Given the description of an element on the screen output the (x, y) to click on. 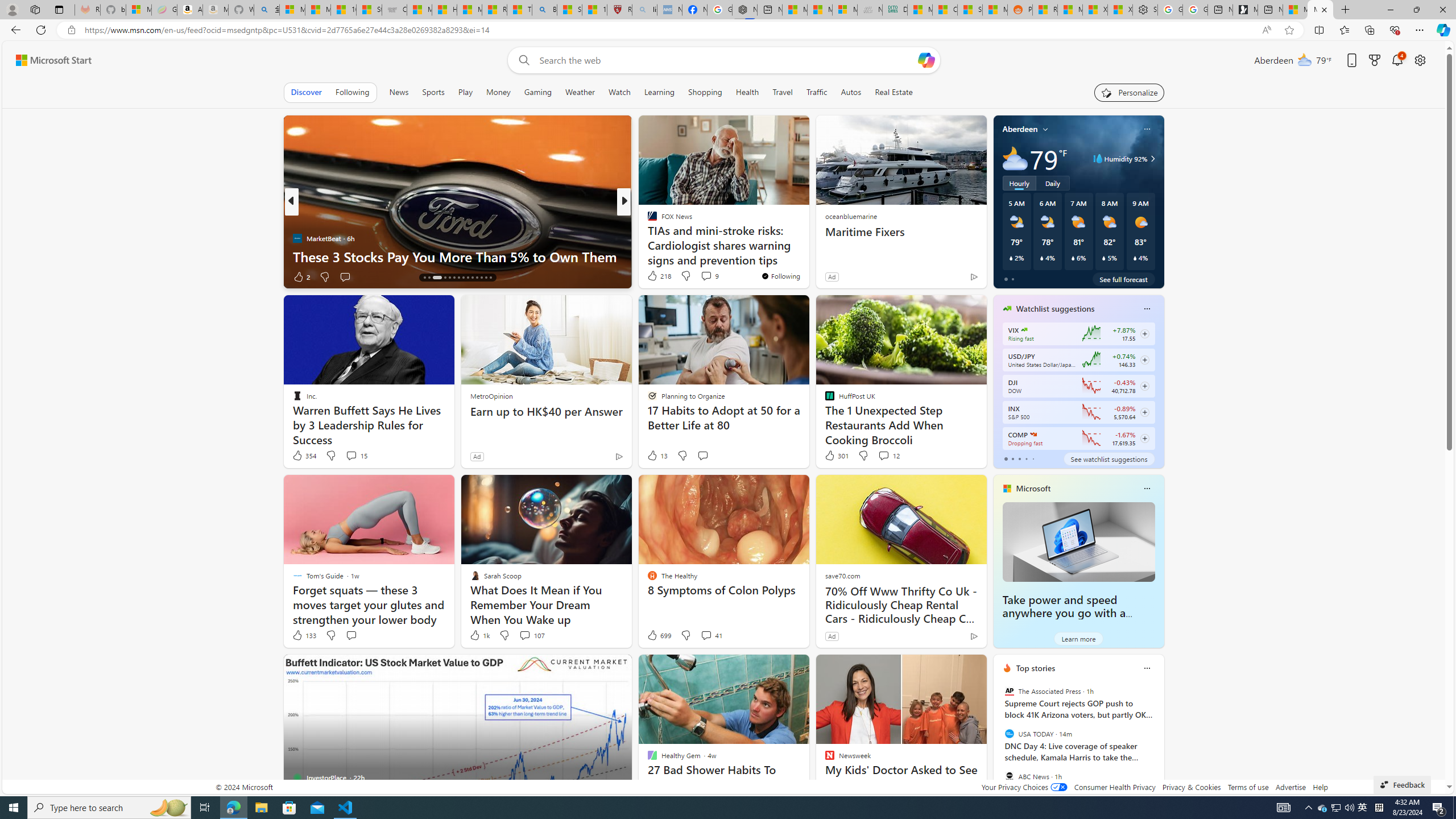
Traffic (816, 92)
R******* | Trusted Community Engagement and Contributions (1044, 9)
Hourly (1018, 183)
MarketBeat (647, 238)
Class: weather-current-precipitation-glyph (1134, 257)
Gaming (537, 92)
AutomationID: tab-19 (449, 277)
67 Like (652, 276)
